Given the description of an element on the screen output the (x, y) to click on. 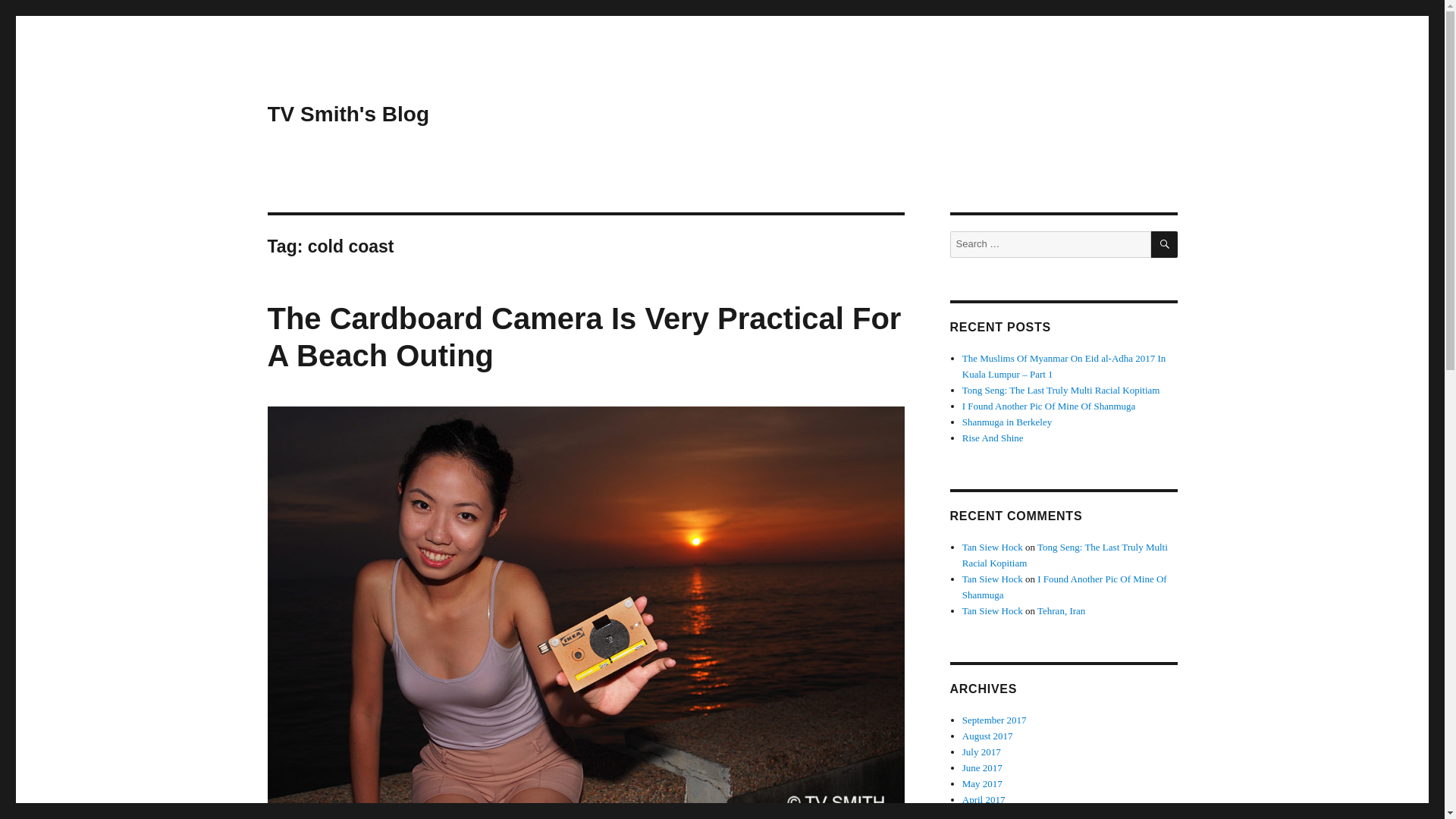
SEARCH (1164, 243)
Shanmuga in Berkeley (1006, 421)
I Found Another Pic Of Mine Of Shanmuga (1048, 405)
The Cardboard Camera Is Very Practical For A Beach Outing (583, 337)
Tan Siew Hock (992, 546)
Rise And Shine (992, 437)
April 2017 (984, 799)
July 2017 (981, 751)
Tong Seng: The Last Truly Multi Racial Kopitiam (1064, 554)
Tan Siew Hock (992, 610)
June 2017 (982, 767)
Tan Siew Hock (992, 578)
May 2017 (982, 783)
March 2017 (986, 814)
Tehran, Iran (1060, 610)
